Given the description of an element on the screen output the (x, y) to click on. 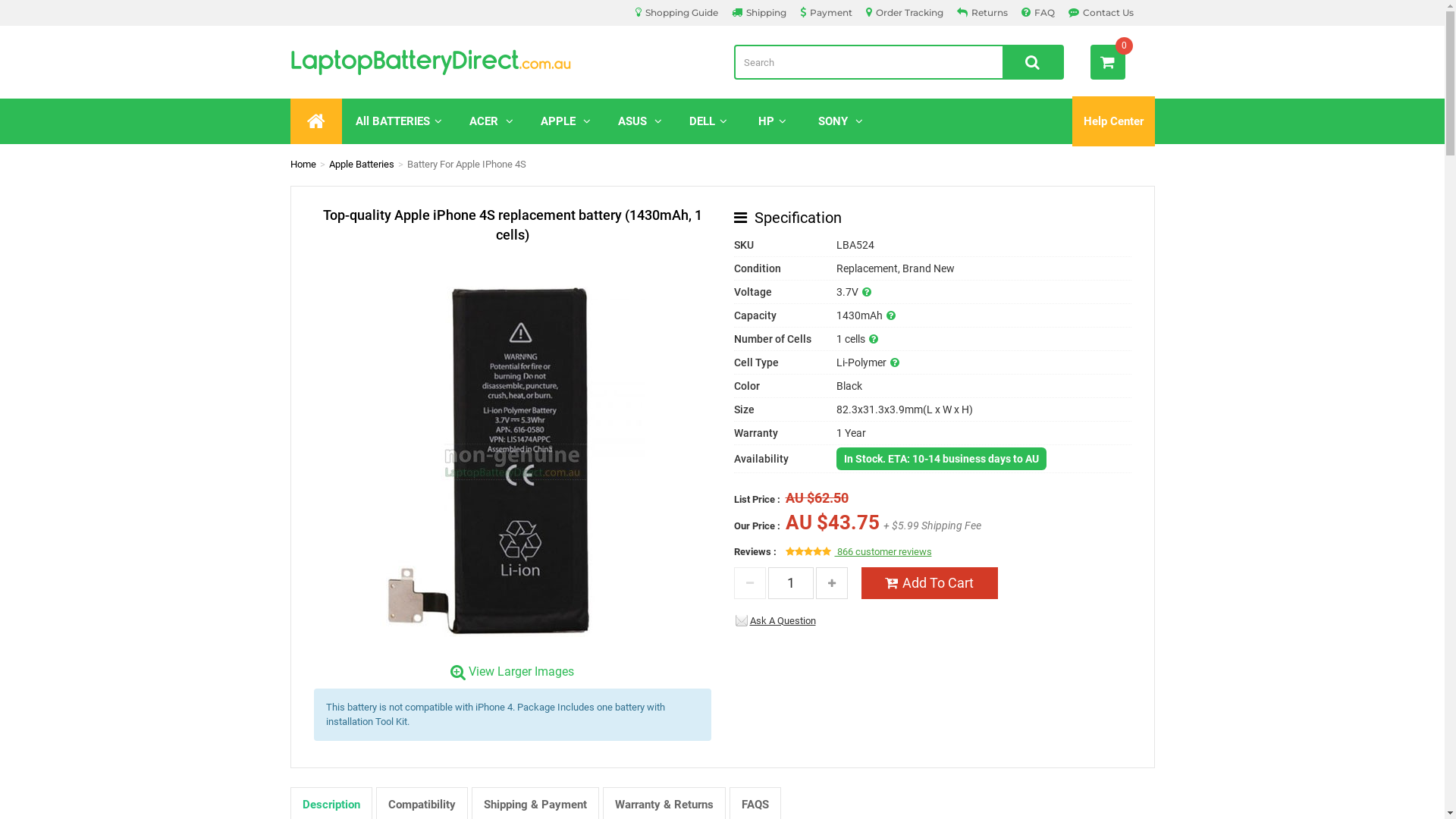
HP Element type: text (771, 121)
Shopping Guide Element type: text (676, 12)
SONY Element type: text (839, 121)
Shipping Element type: text (758, 12)
Home Element type: text (302, 163)
ASUS Element type: text (638, 121)
ACER Element type: text (490, 121)
DELL Element type: text (707, 121)
Capacity explained Element type: hover (889, 315)
Order Tracking Element type: text (904, 12)
4.8 Stars Element type: hover (808, 552)
Add To Cart Element type: text (929, 583)
APPLE Element type: text (564, 121)
Laptop Battery from Australia Element type: text (499, 61)
Contact Us Element type: text (1099, 12)
Cell Type explained Element type: hover (894, 362)
FAQ Element type: text (1037, 12)
Apple iPhone 4S battery from Australia Element type: hover (511, 454)
866 customer reviews Element type: text (882, 551)
Voltage explained Element type: hover (865, 291)
Returns Element type: text (982, 12)
Help Center Element type: text (1113, 121)
Apple Batteries Element type: text (361, 163)
All BATTERIES Element type: text (398, 121)
Ask A Question Element type: text (775, 620)
View Larger Images Element type: text (511, 667)
Number of Cells explained Element type: hover (873, 338)
Payment Element type: text (825, 12)
0 Element type: text (1107, 61)
